Given the description of an element on the screen output the (x, y) to click on. 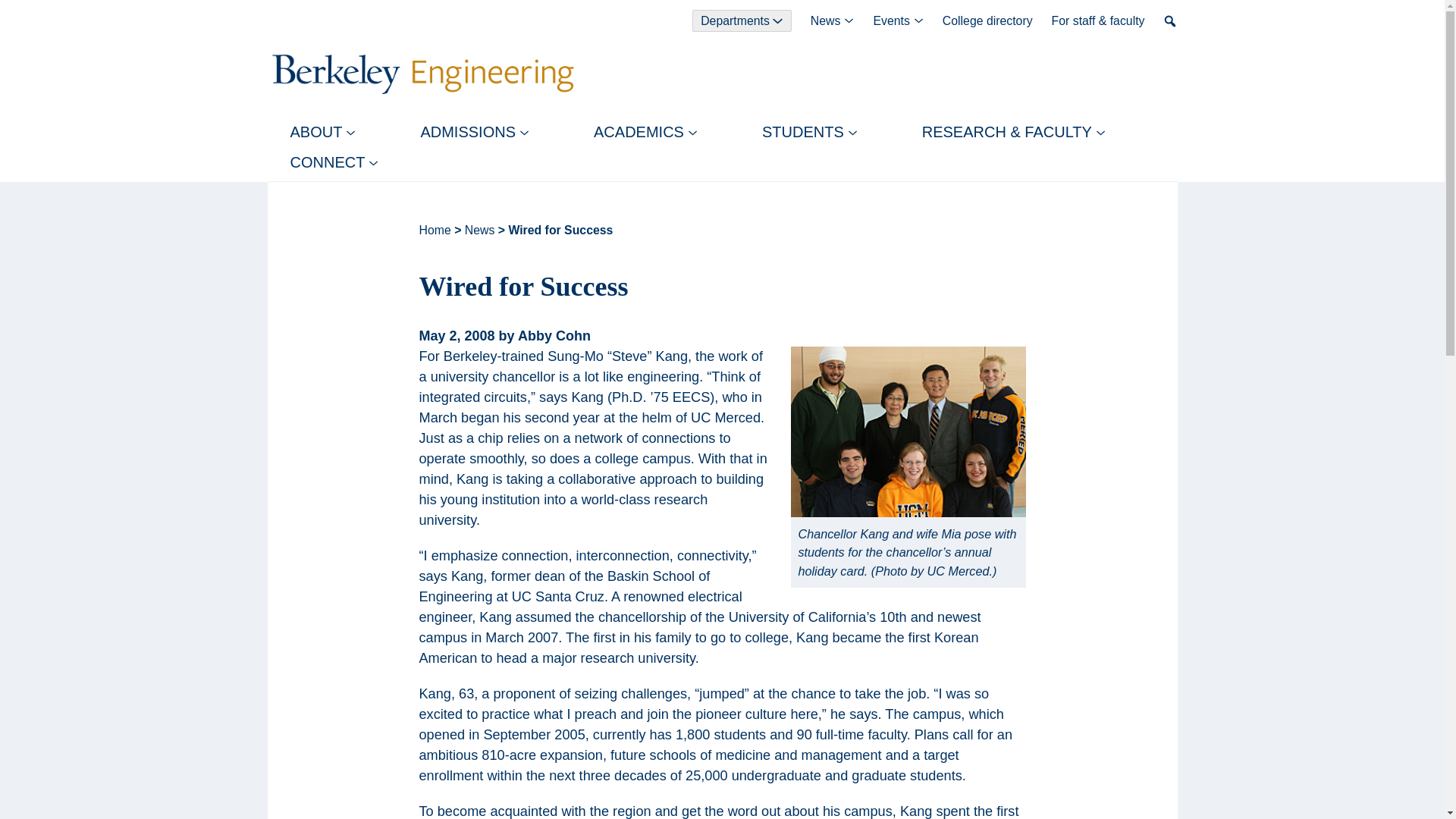
Events (897, 21)
News (832, 21)
ABOUT (322, 132)
College directory (987, 21)
Departments (741, 21)
